Given the description of an element on the screen output the (x, y) to click on. 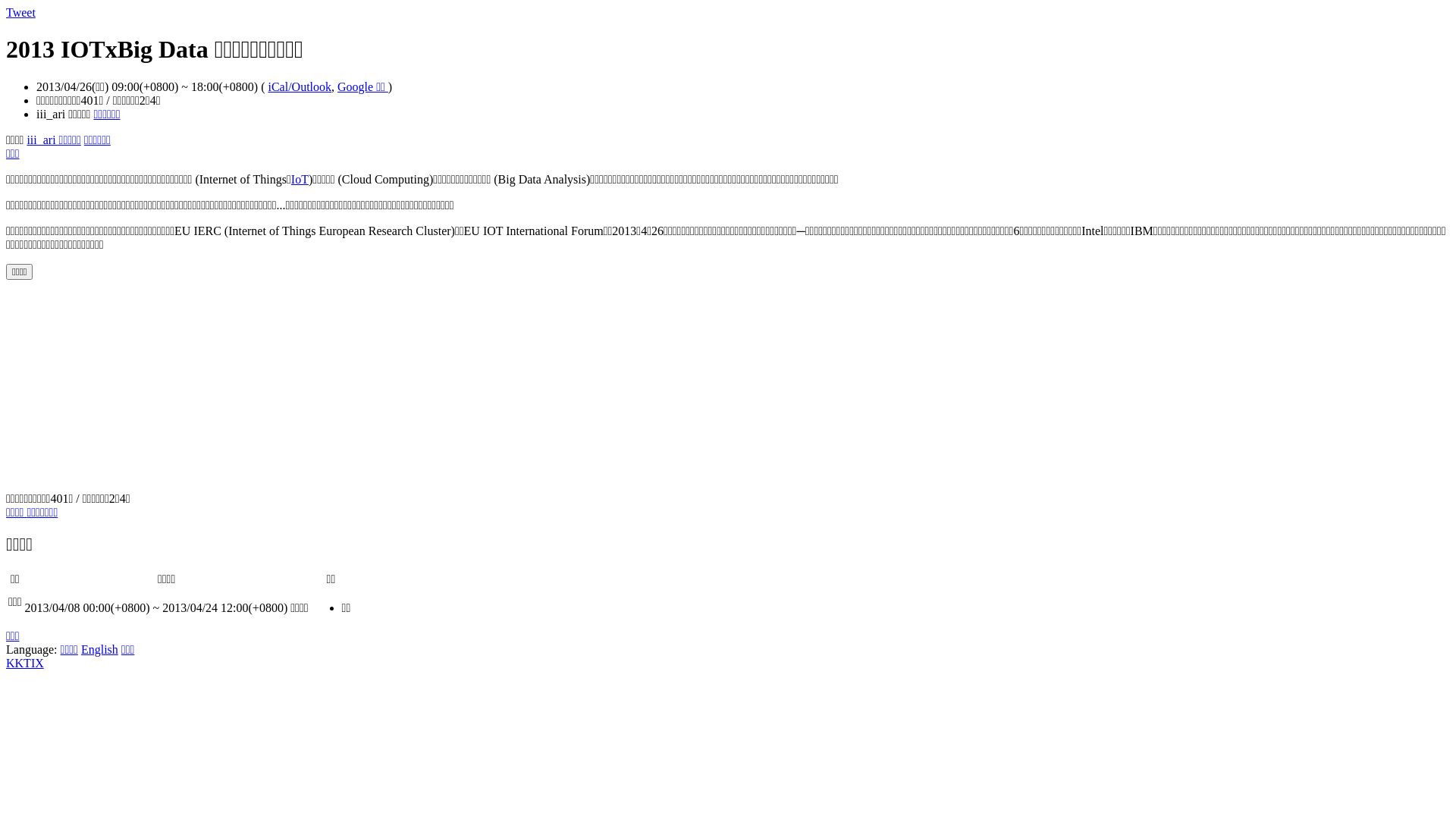
KKTIX Element type: text (24, 662)
Tweet Element type: text (20, 12)
IoT Element type: text (299, 178)
English Element type: text (99, 649)
iCal/Outlook Element type: text (299, 86)
